Given the description of an element on the screen output the (x, y) to click on. 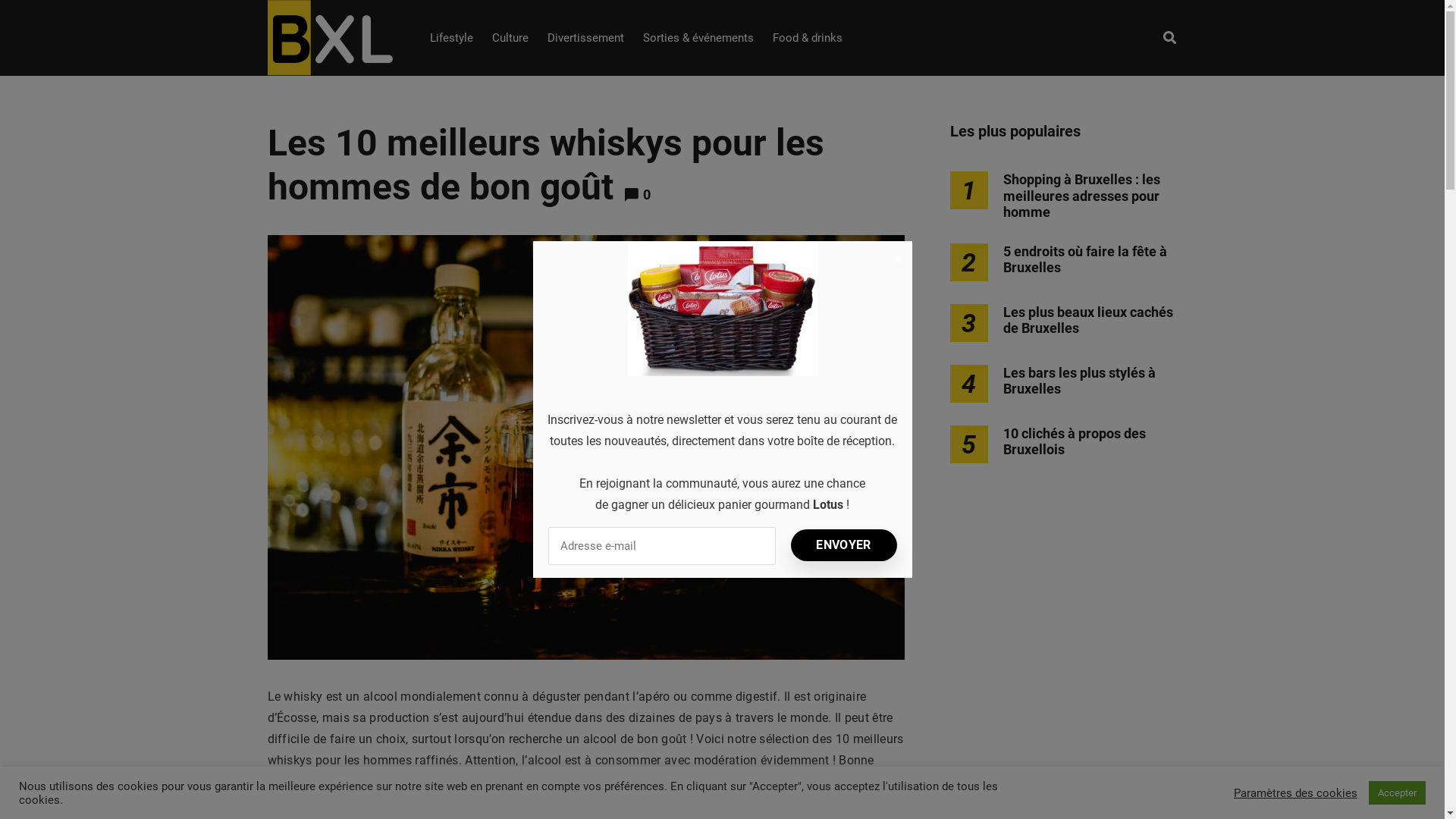
Food & drinks Element type: text (806, 37)
Accepter Element type: text (1396, 792)
Culture Element type: text (509, 37)
Lifestyle Element type: text (450, 37)
Divertissement Element type: text (585, 37)
0 Element type: text (646, 194)
